Given the description of an element on the screen output the (x, y) to click on. 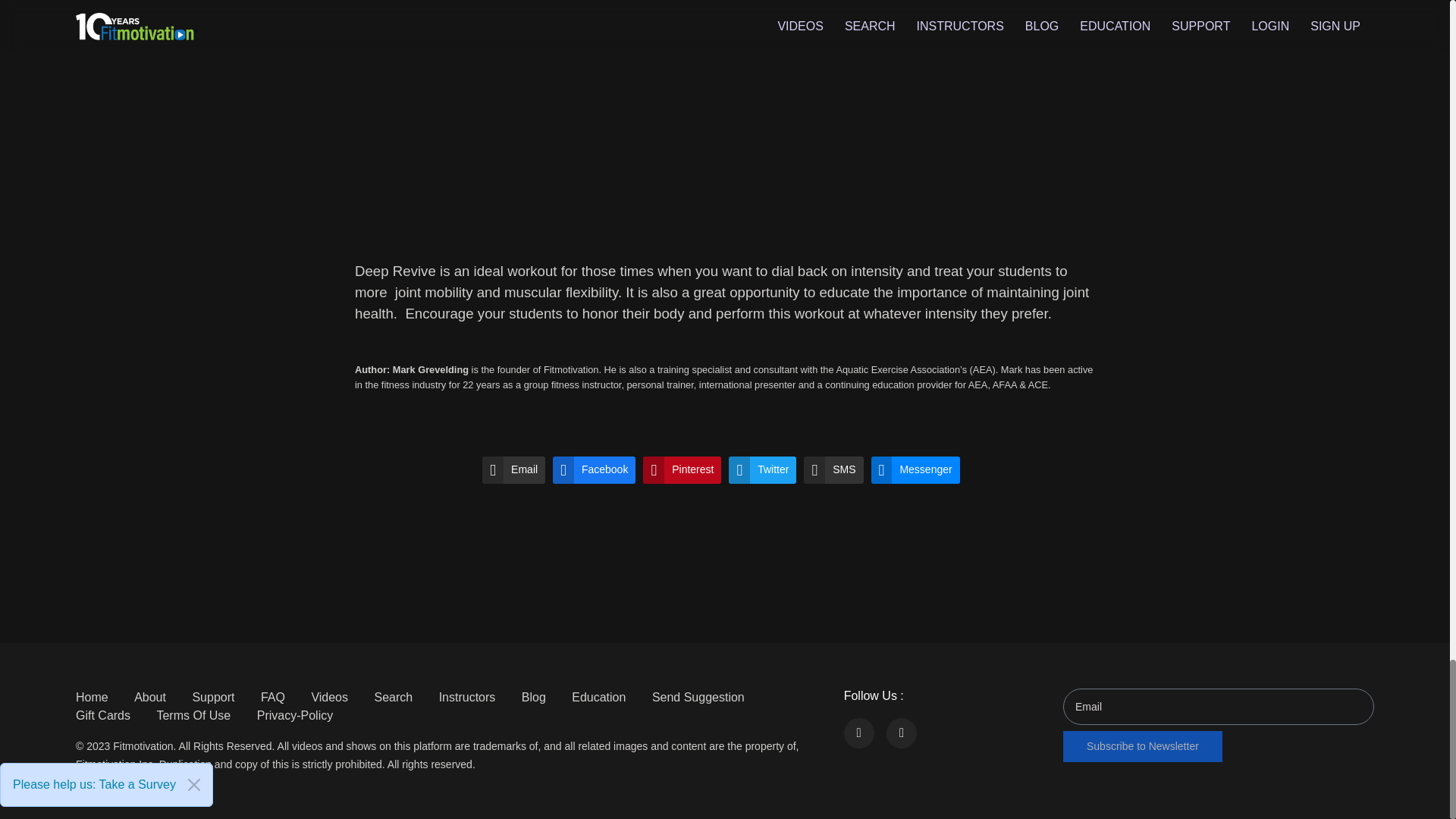
Education (599, 697)
Email (512, 470)
Support (213, 697)
Blog (533, 697)
SMS (833, 470)
FAQ (272, 697)
Privacy-Policy (295, 715)
Videos (329, 697)
Send Suggestion (698, 697)
Home (91, 697)
Twitter (762, 470)
Messenger (914, 470)
Gift Cards (103, 715)
Terms Of Use (192, 715)
Search (393, 697)
